Given the description of an element on the screen output the (x, y) to click on. 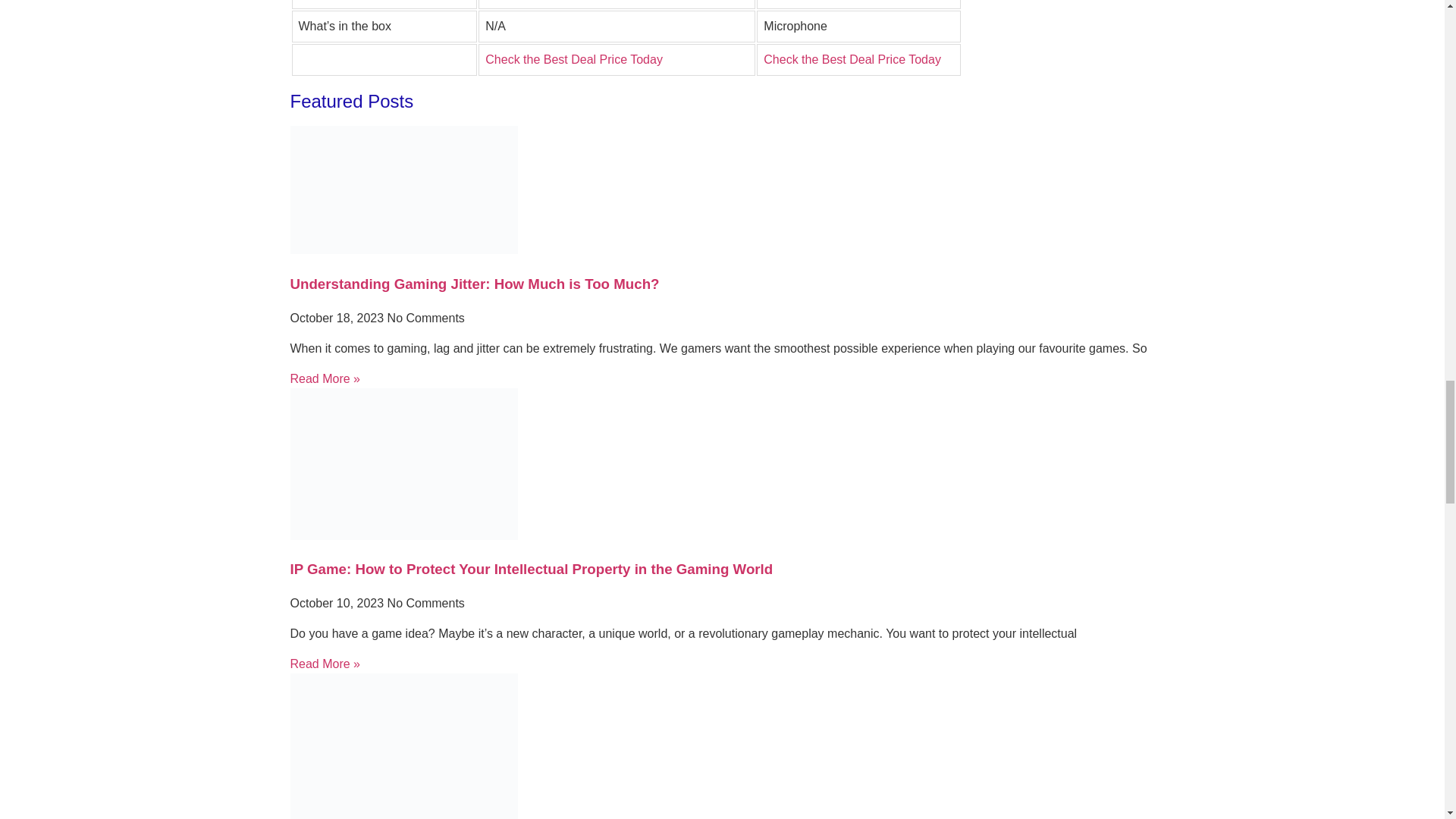
Check the Best Deal Price Today (573, 59)
Check the Best Deal Price Today (851, 59)
Understanding Gaming Jitter: How Much is Too Much? (474, 283)
